Given the description of an element on the screen output the (x, y) to click on. 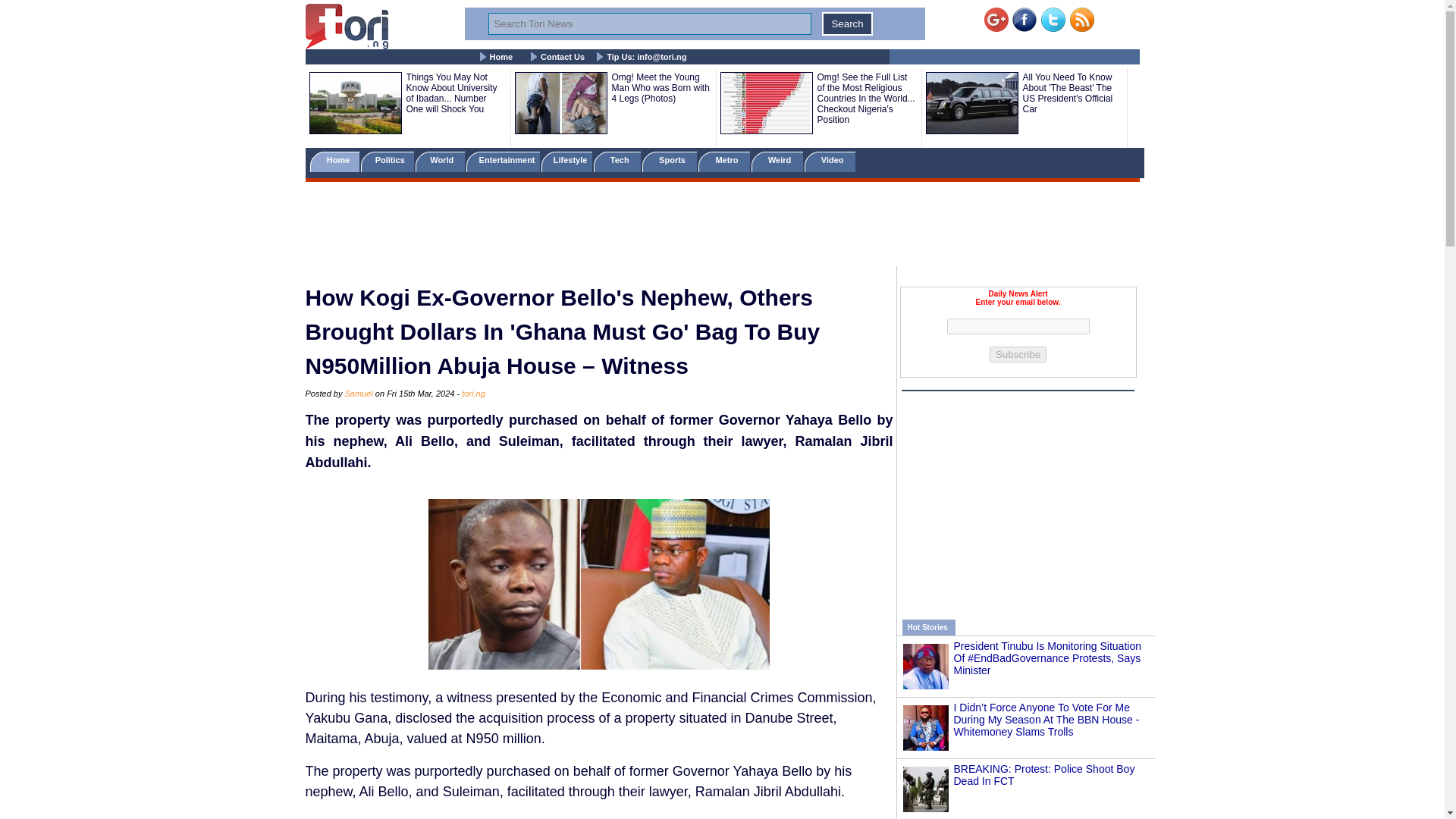
    Tech      (617, 161)
BREAKING: Protest: Police Shoot Boy Dead In FCT (1044, 774)
    Weird      (777, 161)
Subscribe (1018, 354)
  Lifestyle   (566, 161)
Search (847, 24)
Contact Us (562, 56)
Click To Search (847, 24)
    Video      (830, 161)
    Metro      (723, 161)
    Home     (333, 161)
Search Tori News (648, 24)
   Politics     (387, 161)
Home (501, 56)
